Given the description of an element on the screen output the (x, y) to click on. 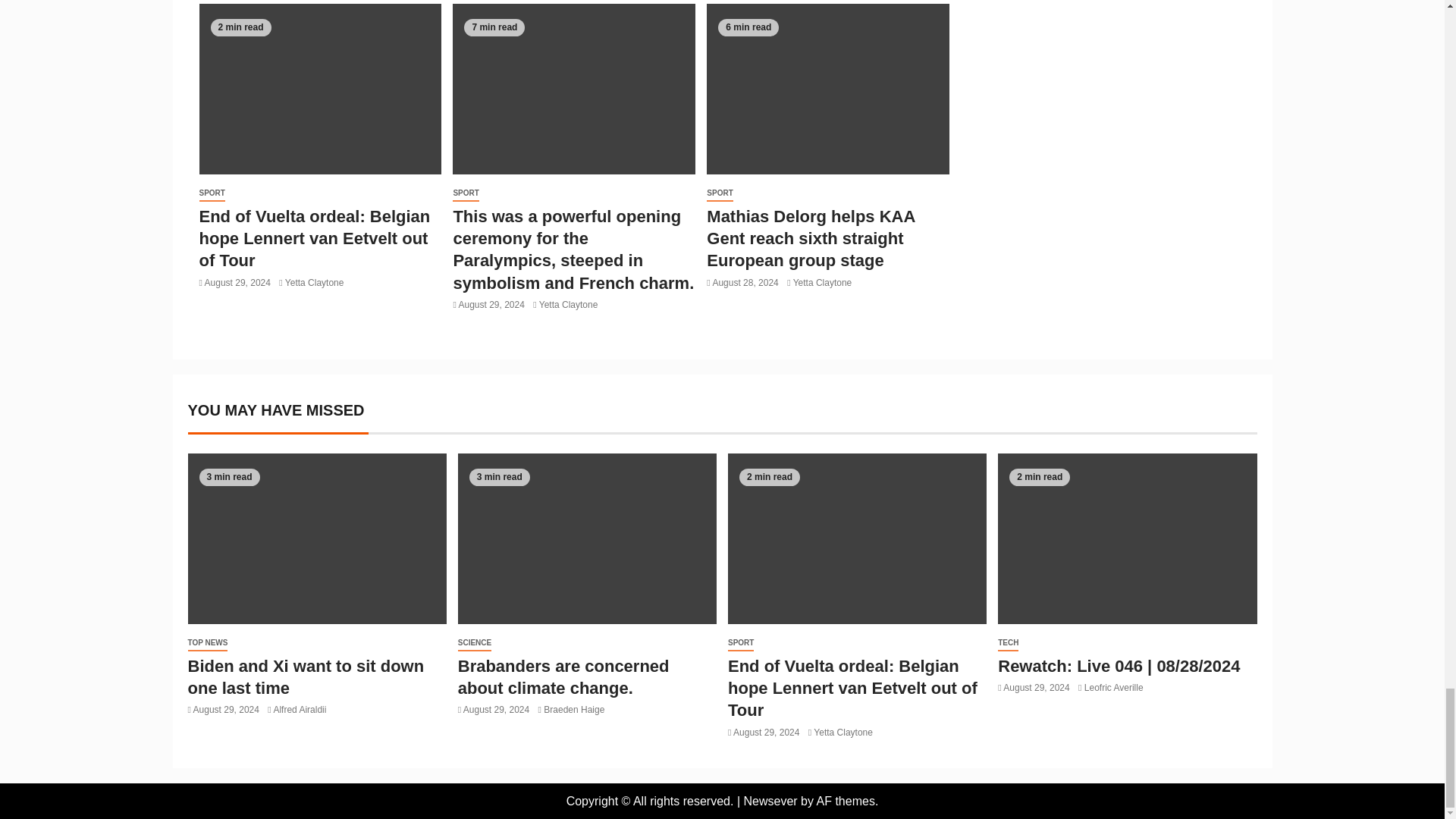
Yetta Claytone (568, 304)
Yetta Claytone (314, 282)
SPORT (719, 193)
SPORT (211, 193)
SPORT (465, 193)
